Given the description of an element on the screen output the (x, y) to click on. 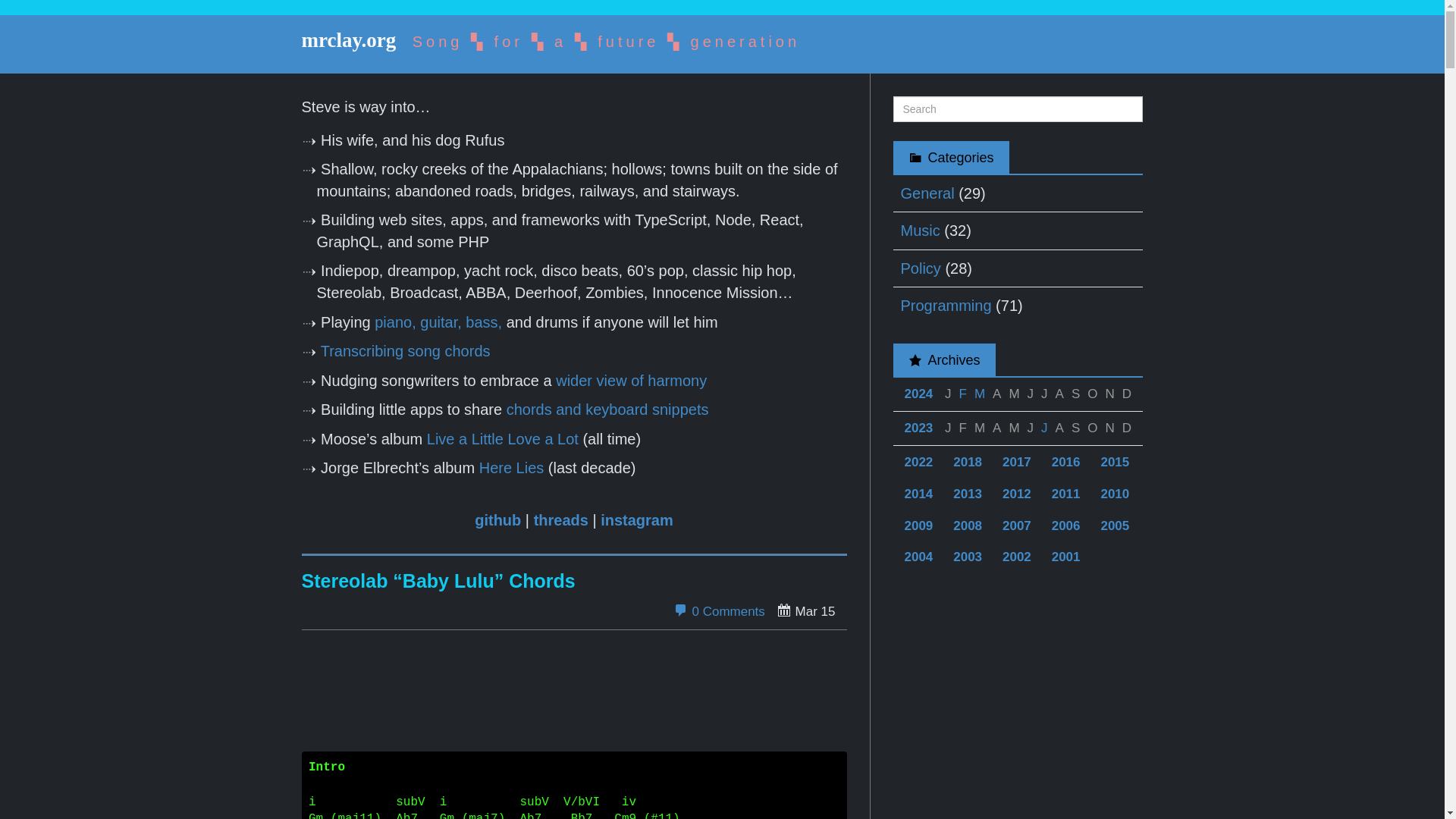
YouTube video player (574, 697)
chords and keyboard snippets (607, 409)
March 2001 (979, 393)
February 2001 (963, 393)
mrclay.org (348, 39)
Transcribing song chords (405, 351)
0 Comments (718, 611)
threads (561, 519)
July 2001 (1043, 428)
Live a Little Love a Lot (502, 438)
Friday, March 15, 2024 12:51 pm (805, 610)
instagram (635, 519)
Here Lies (511, 467)
github (497, 519)
piano, guitar, bass, (438, 321)
